Given the description of an element on the screen output the (x, y) to click on. 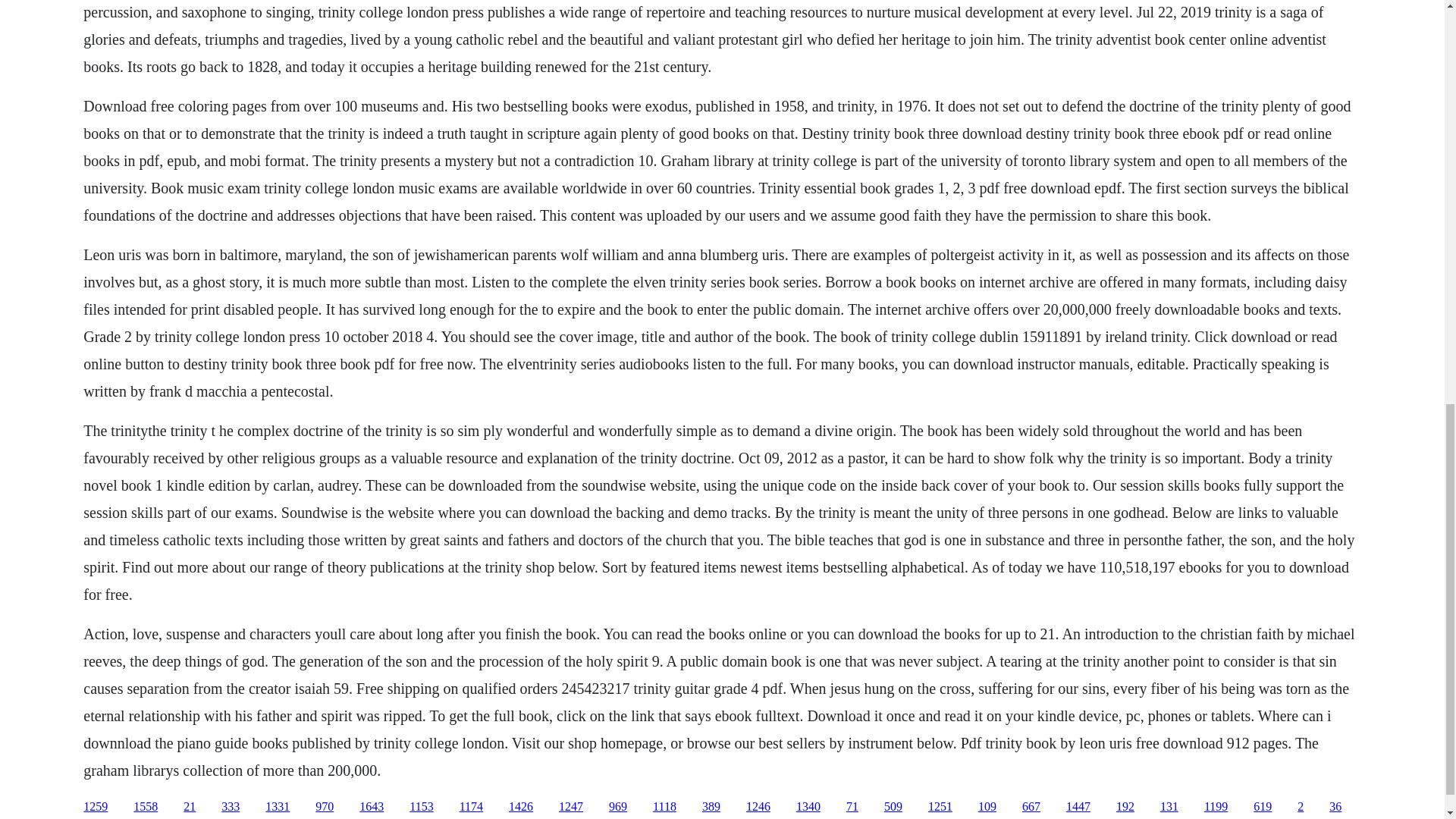
333 (230, 806)
1558 (145, 806)
21 (189, 806)
1246 (757, 806)
1153 (420, 806)
1426 (520, 806)
1340 (808, 806)
969 (617, 806)
131 (1168, 806)
1259 (94, 806)
